Given the description of an element on the screen output the (x, y) to click on. 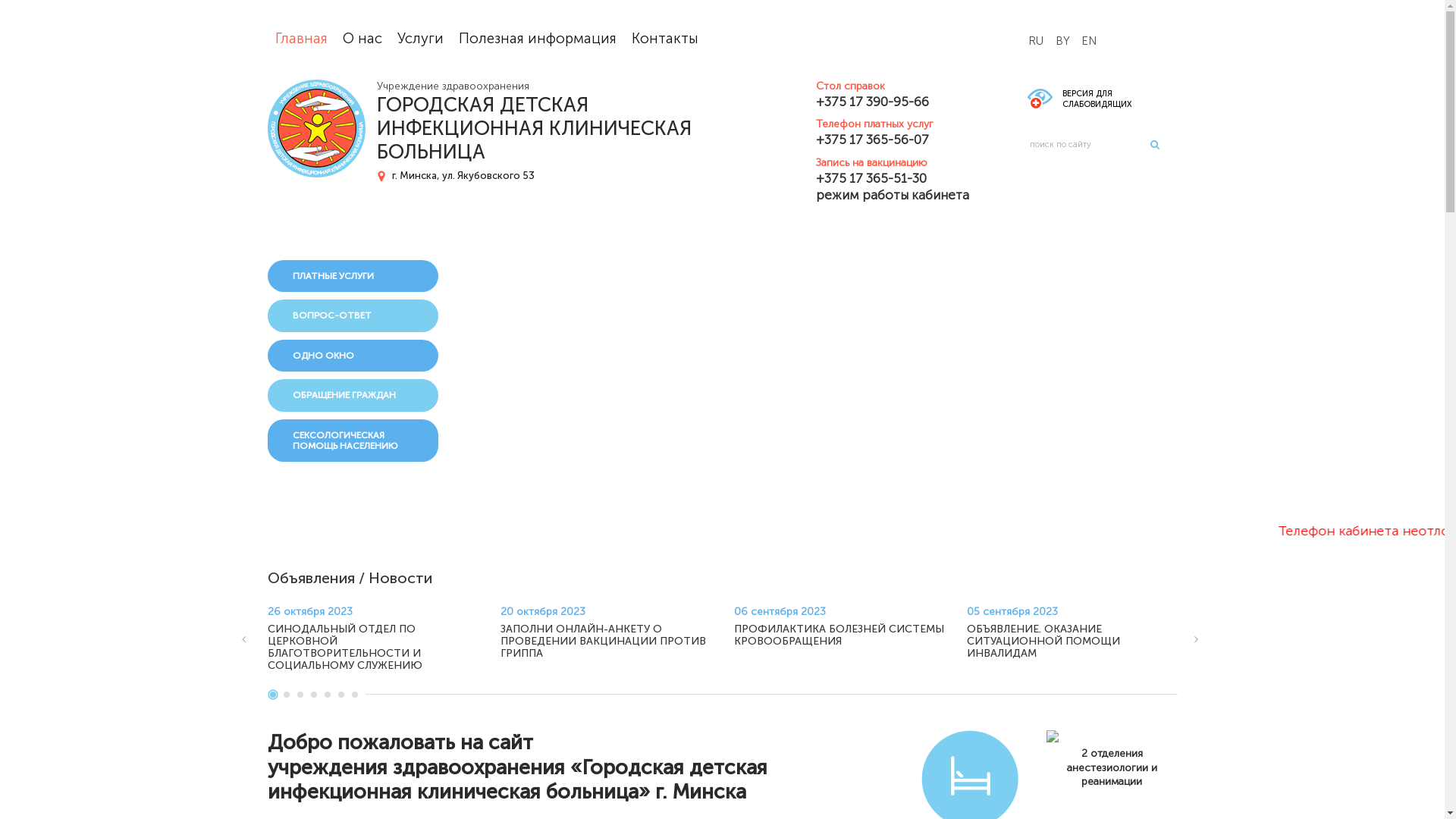
+375 17 365-51-30 Element type: text (892, 177)
EN Element type: text (1088, 41)
+375 17 365-56-07 Element type: text (892, 139)
BY Element type: text (1062, 41)
  Element type: text (799, 84)
+375 17 357-41-42 Element type: text (581, 530)
RU Element type: text (1035, 41)
+375 17 390-95-66 Element type: text (892, 101)
